Given the description of an element on the screen output the (x, y) to click on. 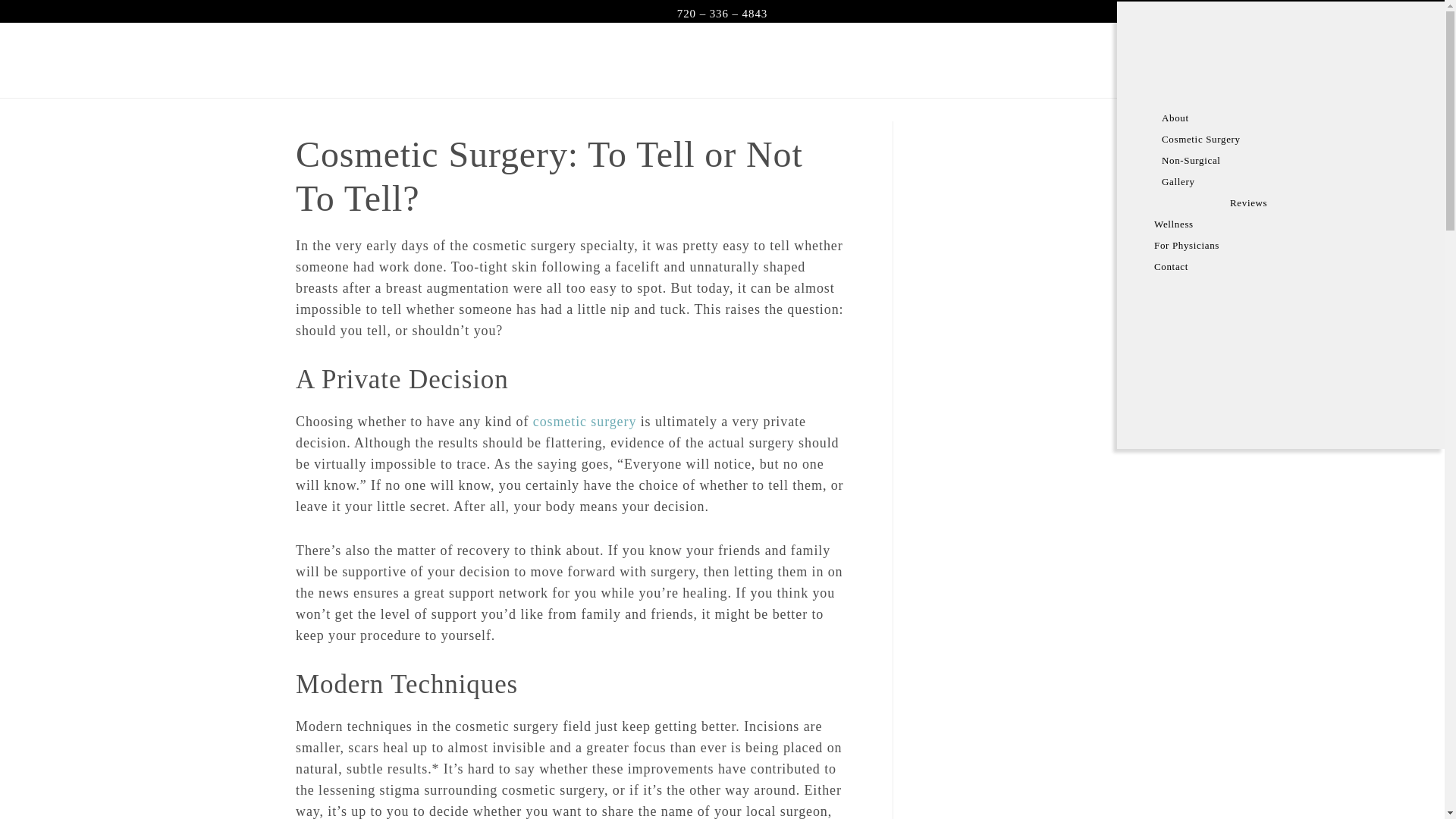
Denver Cosmetic Surgery (584, 421)
About (1289, 117)
COSMETIC PLASTIC SURGERY IN DENVER, COLORADO (733, 60)
Cosmetic Surgery (1289, 138)
